Given the description of an element on the screen output the (x, y) to click on. 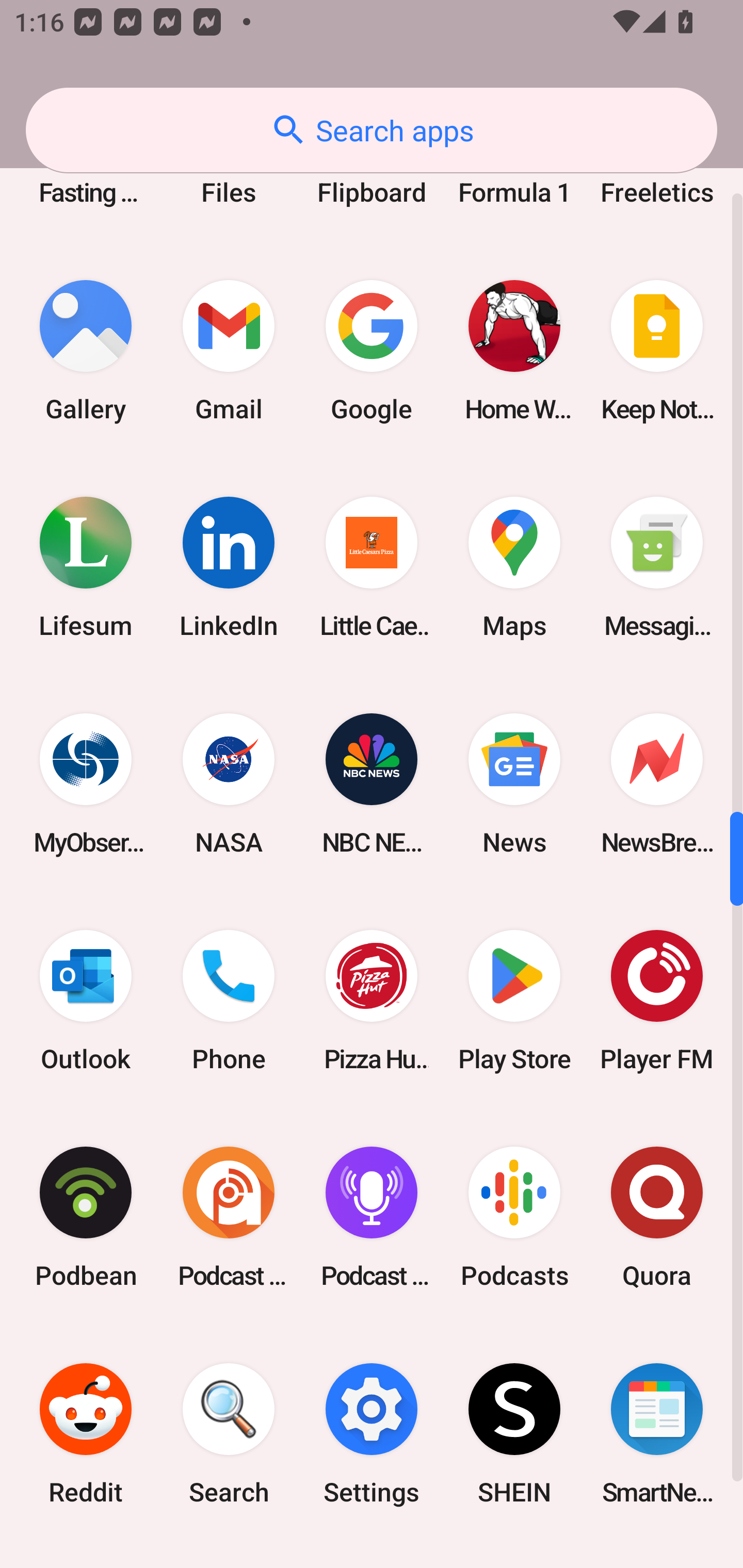
  Search apps (371, 130)
Gallery (85, 351)
Gmail (228, 351)
Google (371, 351)
Home Workout (514, 351)
Keep Notes (656, 351)
Lifesum (85, 567)
LinkedIn (228, 567)
Little Caesars Pizza (371, 567)
Maps (514, 567)
Messaging (656, 567)
MyObservatory (85, 783)
NASA (228, 783)
NBC NEWS (371, 783)
News (514, 783)
NewsBreak (656, 783)
Outlook (85, 1000)
Phone (228, 1000)
Pizza Hut HK & Macau (371, 1000)
Play Store (514, 1000)
Player FM (656, 1000)
Podbean (85, 1216)
Podcast Addict (228, 1216)
Podcast Player (371, 1216)
Podcasts (514, 1216)
Quora (656, 1216)
Reddit (85, 1433)
Search (228, 1433)
Settings (371, 1433)
SHEIN (514, 1433)
SmartNews (656, 1433)
